Given the description of an element on the screen output the (x, y) to click on. 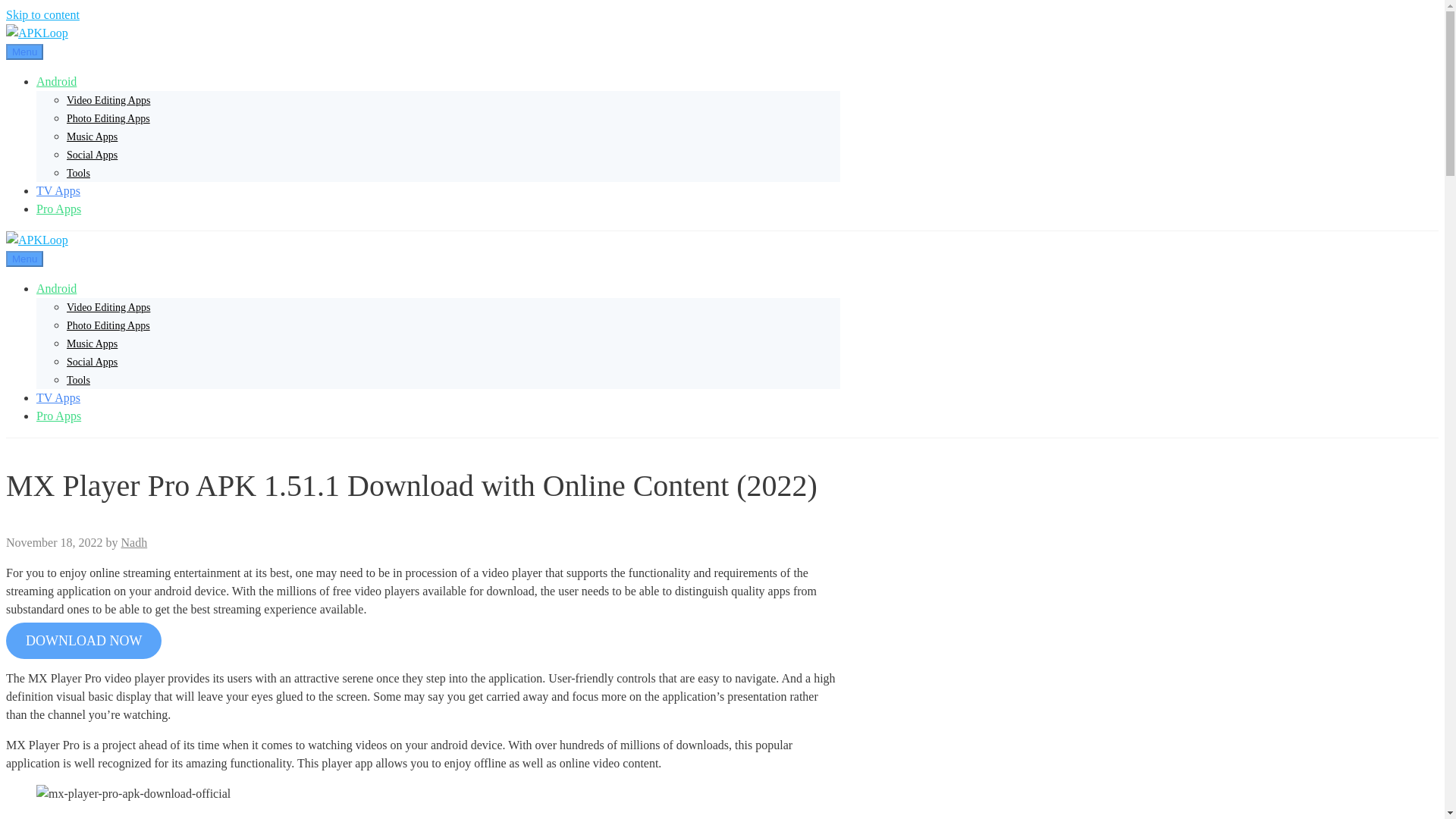
Music Apps (91, 136)
TV Apps (58, 397)
Video Editing Apps (107, 100)
APKLoop (36, 32)
Music Apps (91, 343)
Pro Apps (58, 415)
Social Apps (91, 361)
Nadh (134, 542)
Menu (24, 51)
Pro Apps (58, 208)
Video Editing Apps (107, 307)
Skip to content (42, 14)
Tools (78, 379)
Photo Editing Apps (107, 325)
View all posts by Nadh (134, 542)
